Given the description of an element on the screen output the (x, y) to click on. 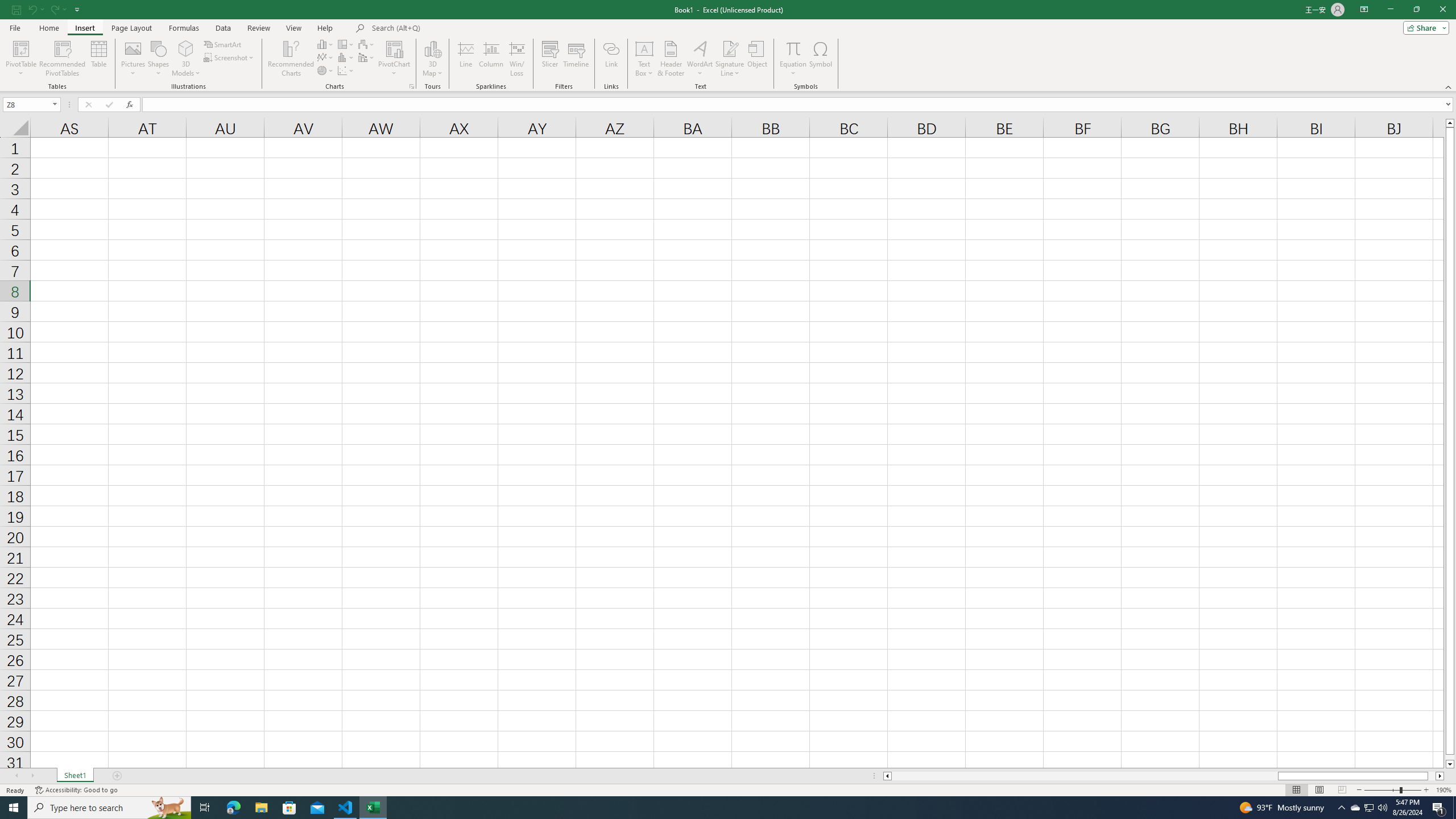
Timeline (575, 58)
